Given the description of an element on the screen output the (x, y) to click on. 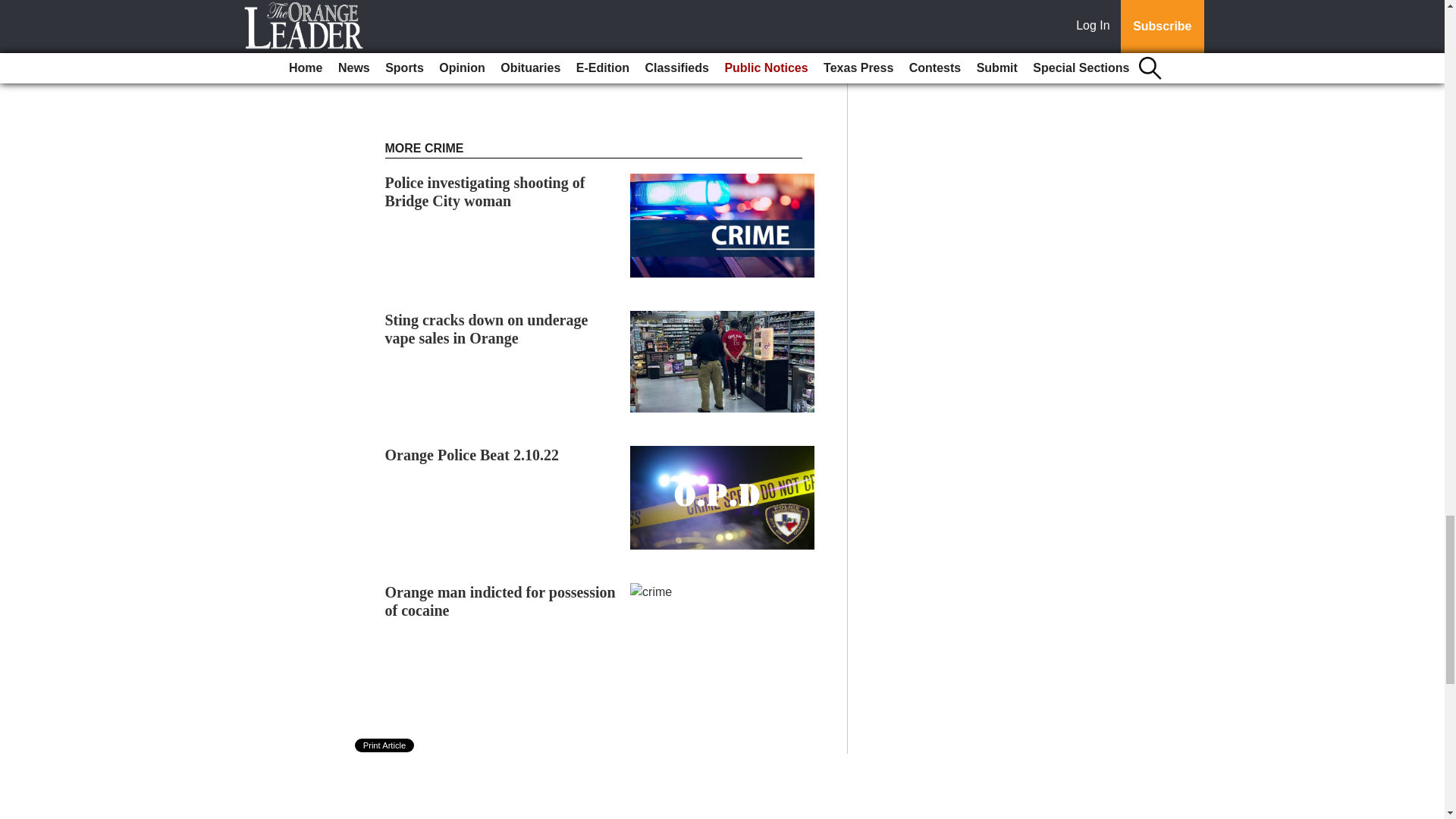
Orange man indicted for possession of cocaine (500, 601)
Sting cracks down on underage vape sales in Orange (486, 329)
Sting cracks down on underage vape sales in Orange (486, 329)
Orange Police Beat 2.10.22 (472, 454)
Police investigating shooting of Bridge City woman (485, 191)
Orange Police Beat 2.10.22 (472, 454)
Print Article (384, 745)
Police investigating shooting of Bridge City woman (485, 191)
Orange man indicted for possession of cocaine (500, 601)
